Given the description of an element on the screen output the (x, y) to click on. 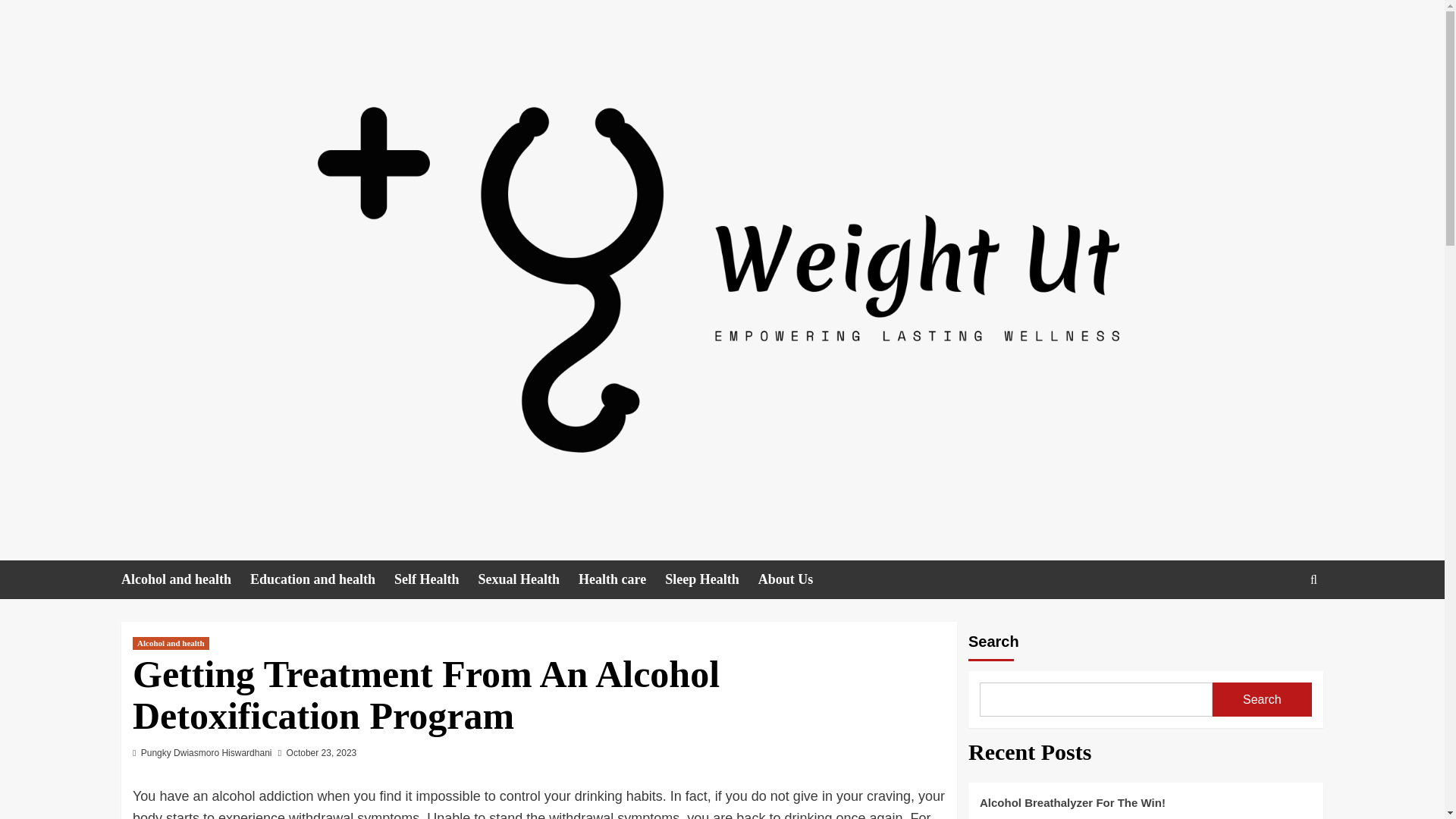
Search (1278, 626)
Education and health (322, 579)
Alcohol Breathalyzer For The Win! (1145, 806)
Sleep Health (711, 579)
Search (1261, 699)
Alcohol and health (185, 579)
Sexual Health (529, 579)
Health care (621, 579)
Self Health (436, 579)
Pungky Dwiasmoro Hiswardhani (206, 752)
